Given the description of an element on the screen output the (x, y) to click on. 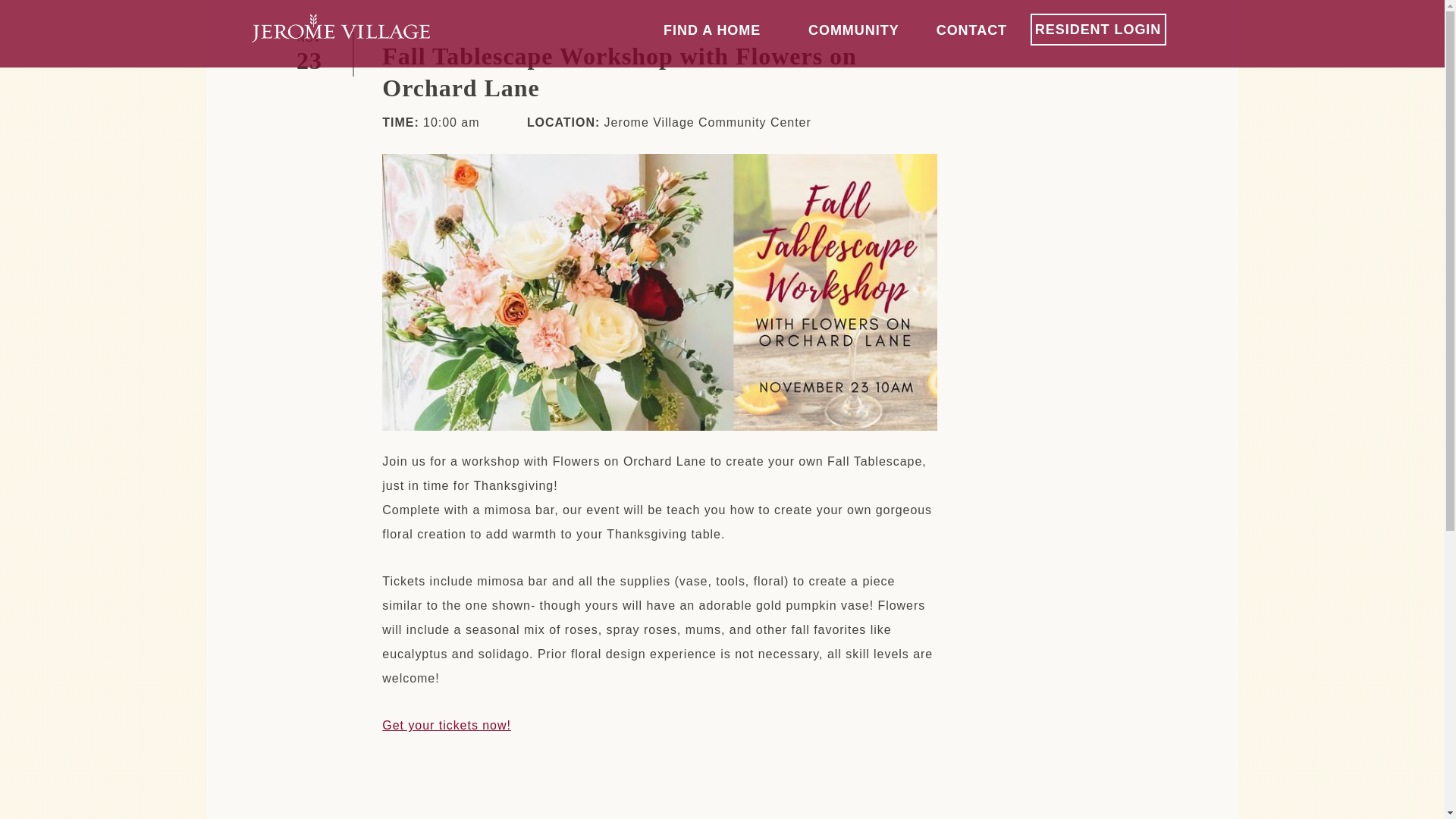
FIND A HOME (712, 30)
COMMUNITY (853, 30)
RESIDENT LOGIN (1098, 29)
CONTACT (970, 30)
